Given the description of an element on the screen output the (x, y) to click on. 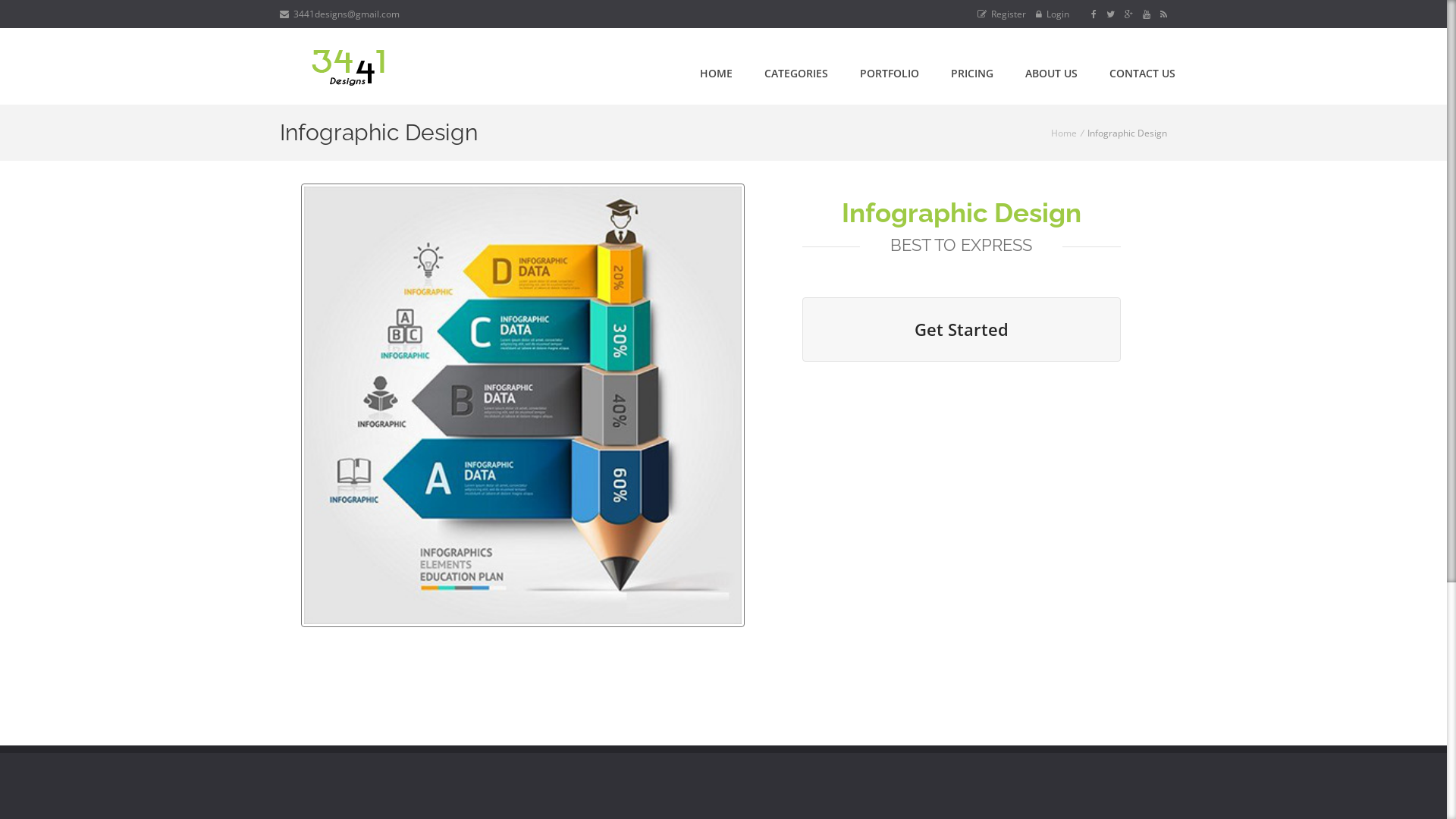
  Register Element type: text (1001, 13)
HOME Element type: text (716, 73)
PRICING Element type: text (972, 73)
PORTFOLIO Element type: text (889, 73)
CONTACT US Element type: text (1142, 73)
  3441designs@gmail.com Element type: text (339, 13)
  Login Element type: text (1052, 13)
Home Element type: text (1063, 132)
Get Started Element type: text (961, 329)
ABOUT US Element type: text (1051, 73)
CATEGORIES Element type: text (796, 73)
